Given the description of an element on the screen output the (x, y) to click on. 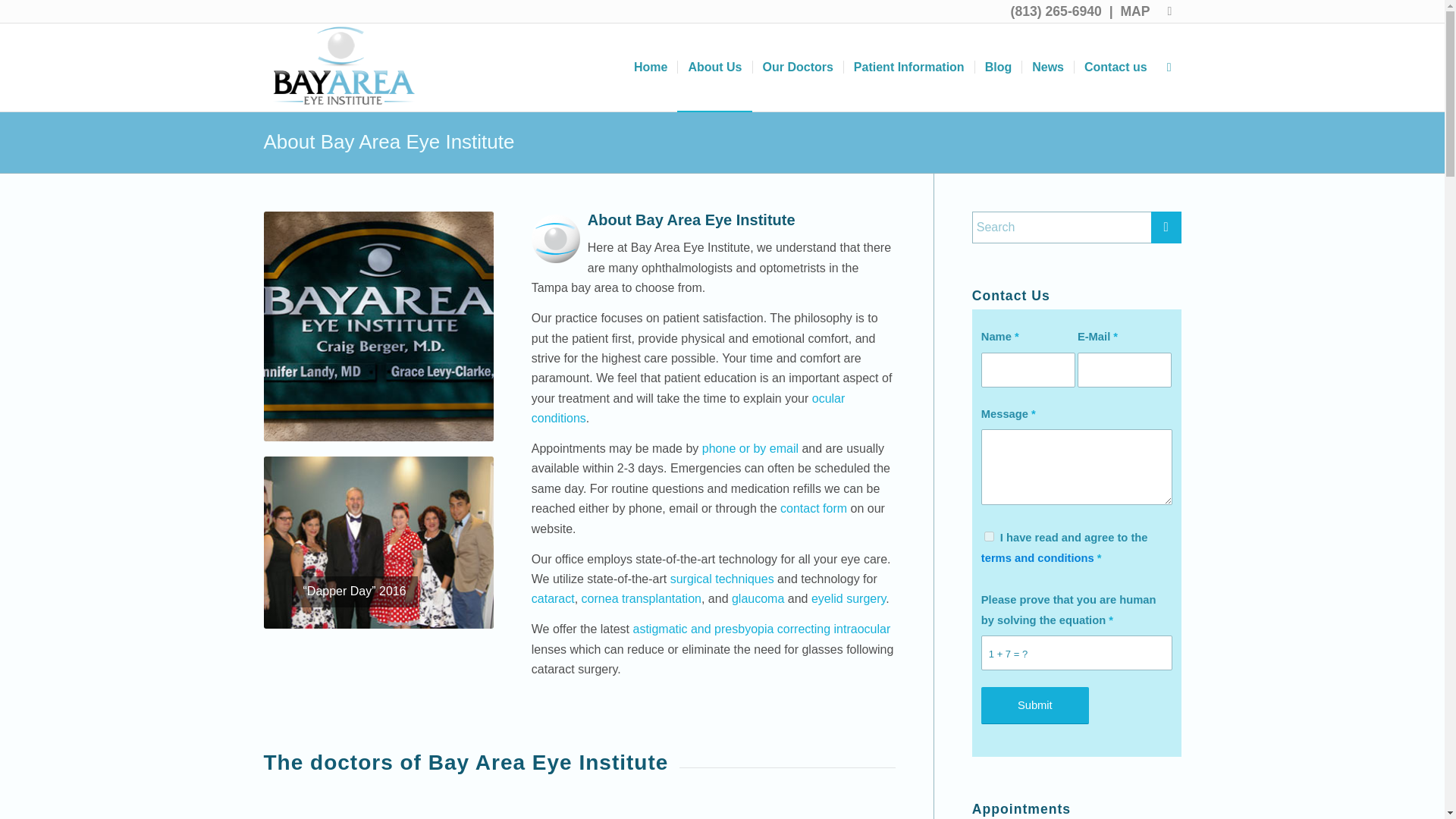
true (989, 536)
Home (650, 67)
MAP (1134, 11)
Our Doctors (797, 67)
About Us (714, 67)
Permanent Link: About Bay Area Eye Institute (389, 141)
about-sign (378, 326)
tampa-bay-eye-doctor-baei (344, 67)
Patient Information (908, 67)
eye-doctor-staff-dapper-02 (378, 542)
Submit (1035, 705)
Facebook (1169, 11)
